Given the description of an element on the screen output the (x, y) to click on. 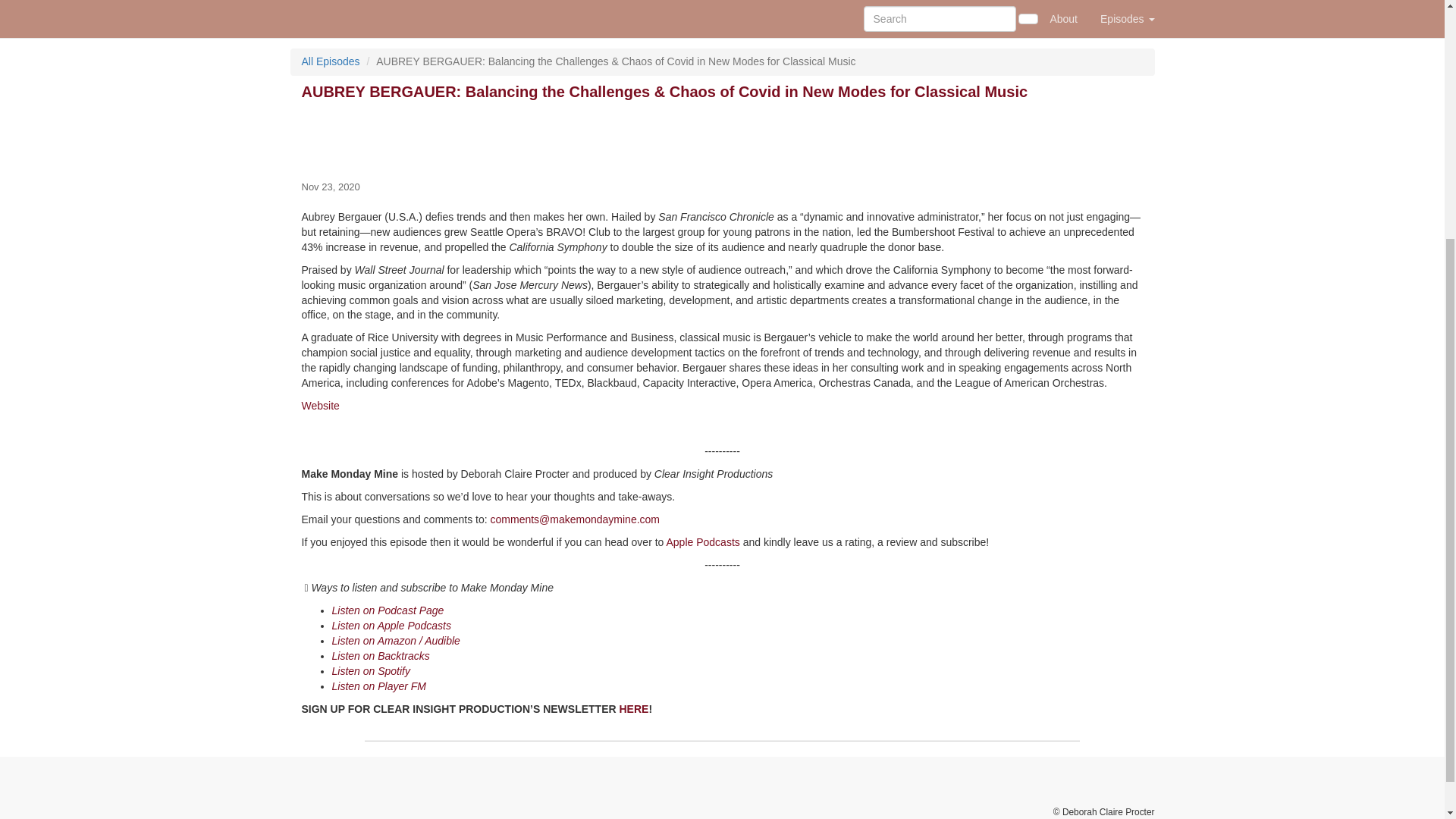
Website (320, 405)
Listen on Apple Podcasts (391, 625)
HERE (632, 708)
Listen on Backtracks (380, 655)
Listen on Podcast Page (387, 610)
Listen on Spotify (370, 671)
Apple Podcasts (702, 541)
Listen on Player FM (378, 686)
All Episodes (330, 61)
